Given the description of an element on the screen output the (x, y) to click on. 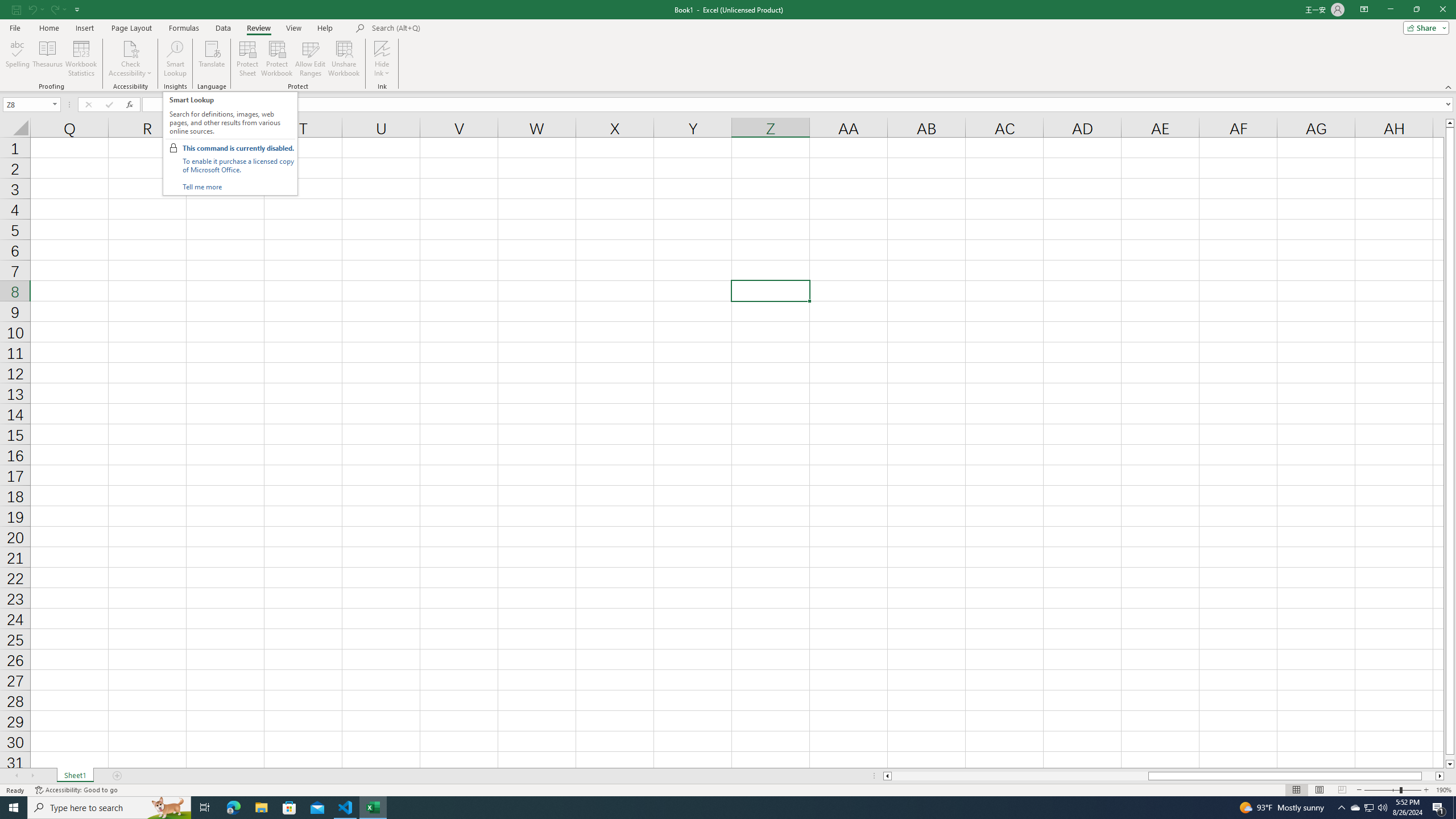
Hide Ink (381, 48)
Protect Sheet... (247, 58)
